Given the description of an element on the screen output the (x, y) to click on. 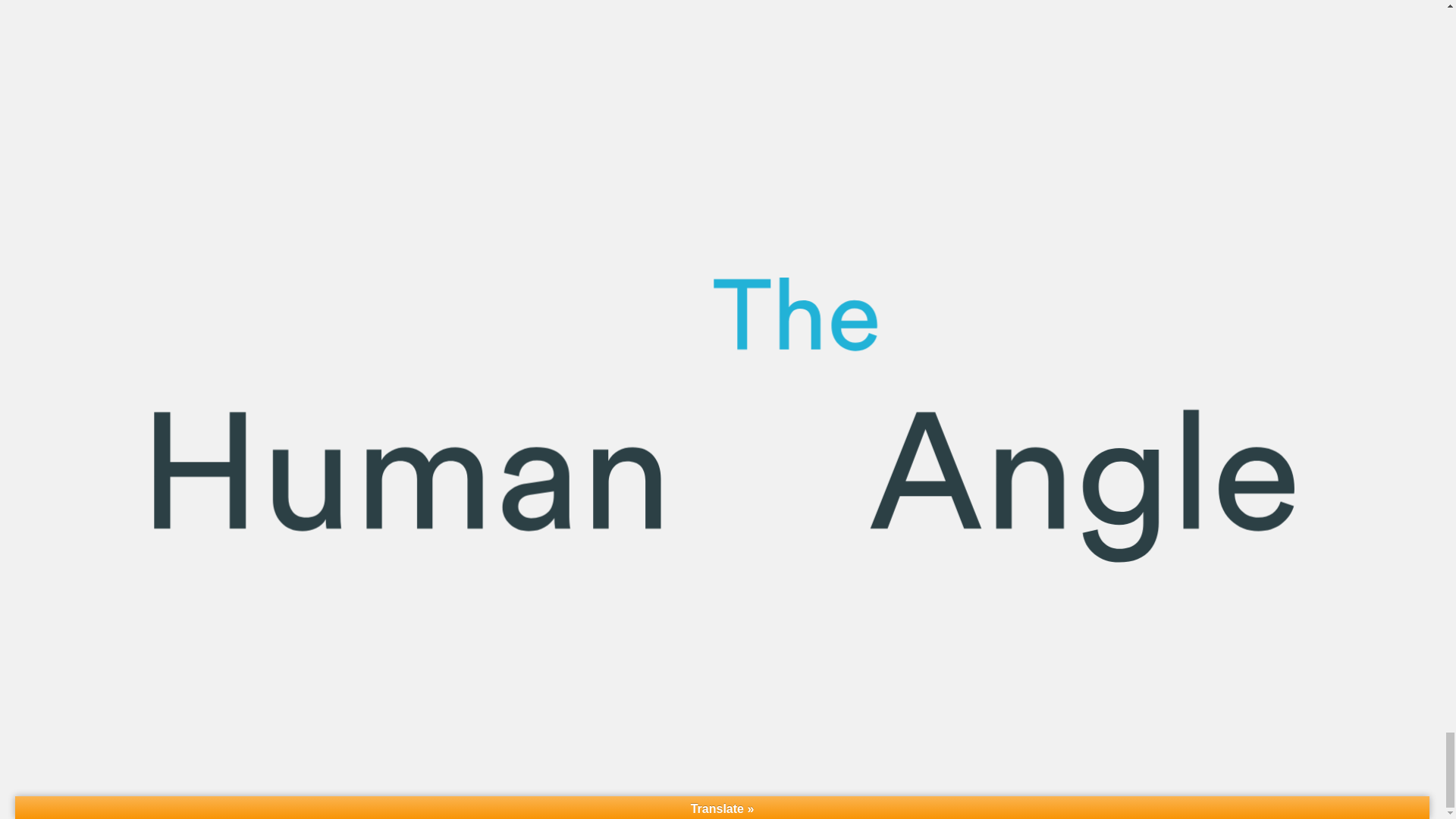
7.3.5 (511, 492)
Post Comment (494, 436)
yes (443, 400)
